Given the description of an element on the screen output the (x, y) to click on. 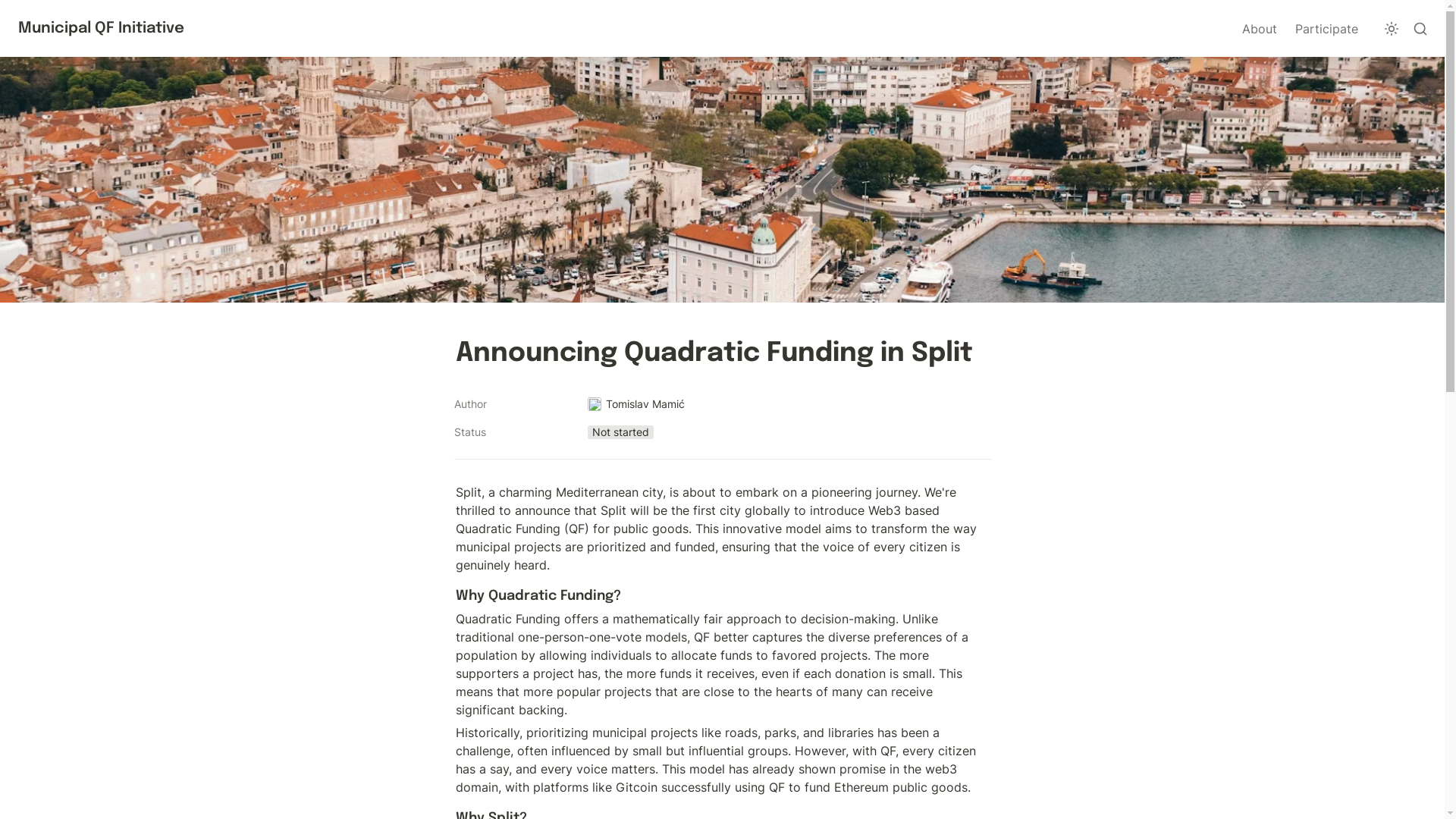
Participate (1326, 28)
Municipal QF Initiative (100, 28)
About (1259, 28)
